Given the description of an element on the screen output the (x, y) to click on. 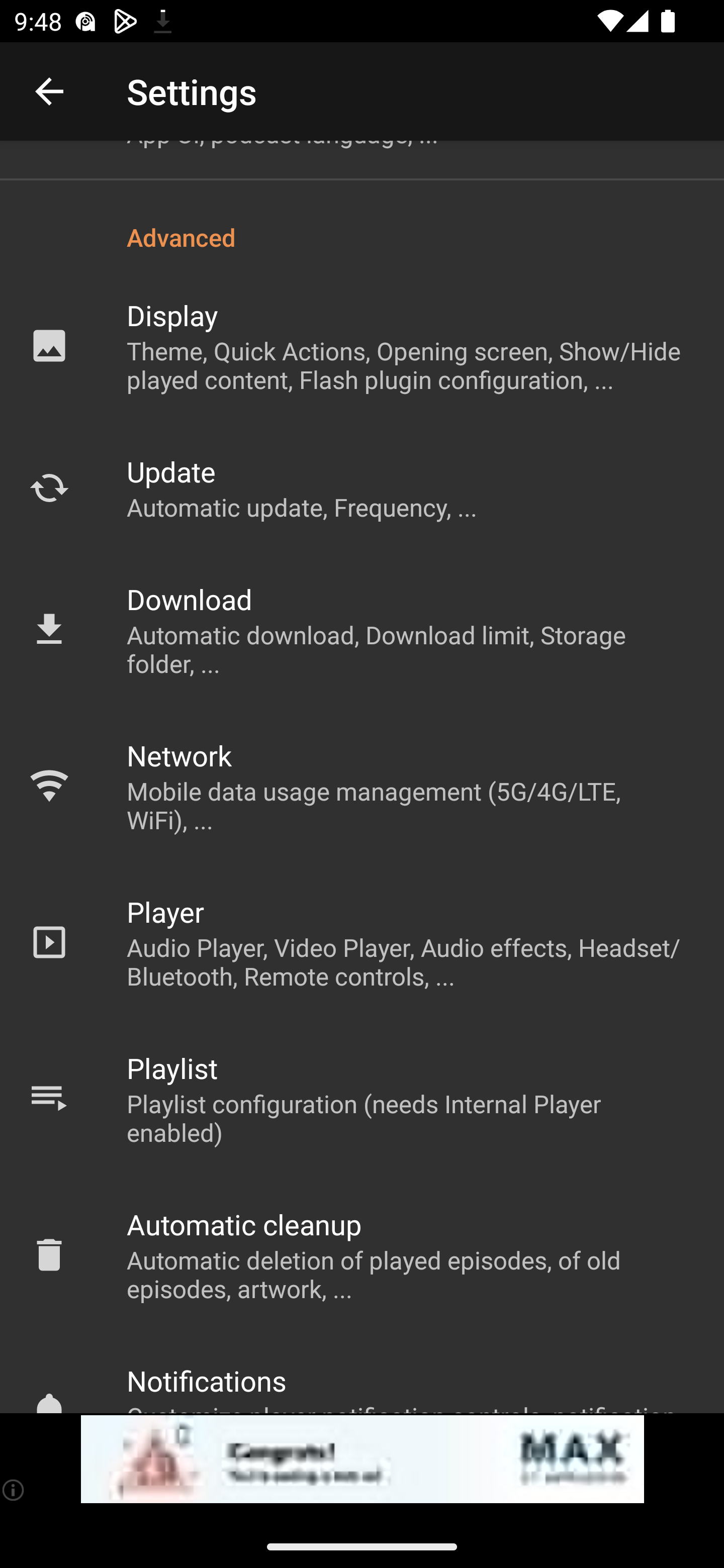
Navigate up (49, 91)
Update Automatic update, Frequency, ... (362, 487)
app-monetization (362, 1459)
(i) (14, 1489)
